Given the description of an element on the screen output the (x, y) to click on. 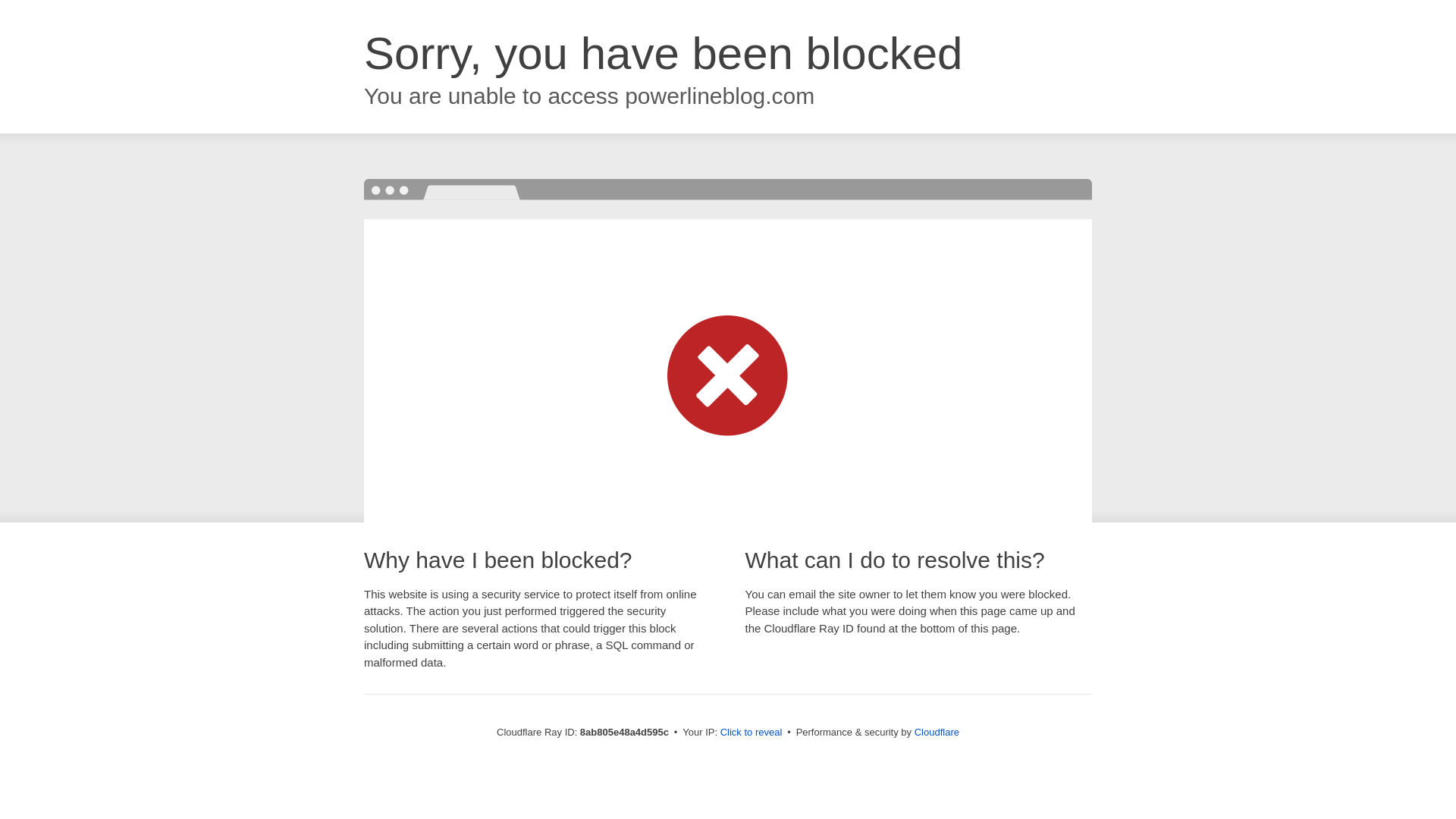
Click to reveal (751, 732)
Cloudflare (936, 731)
